Given the description of an element on the screen output the (x, y) to click on. 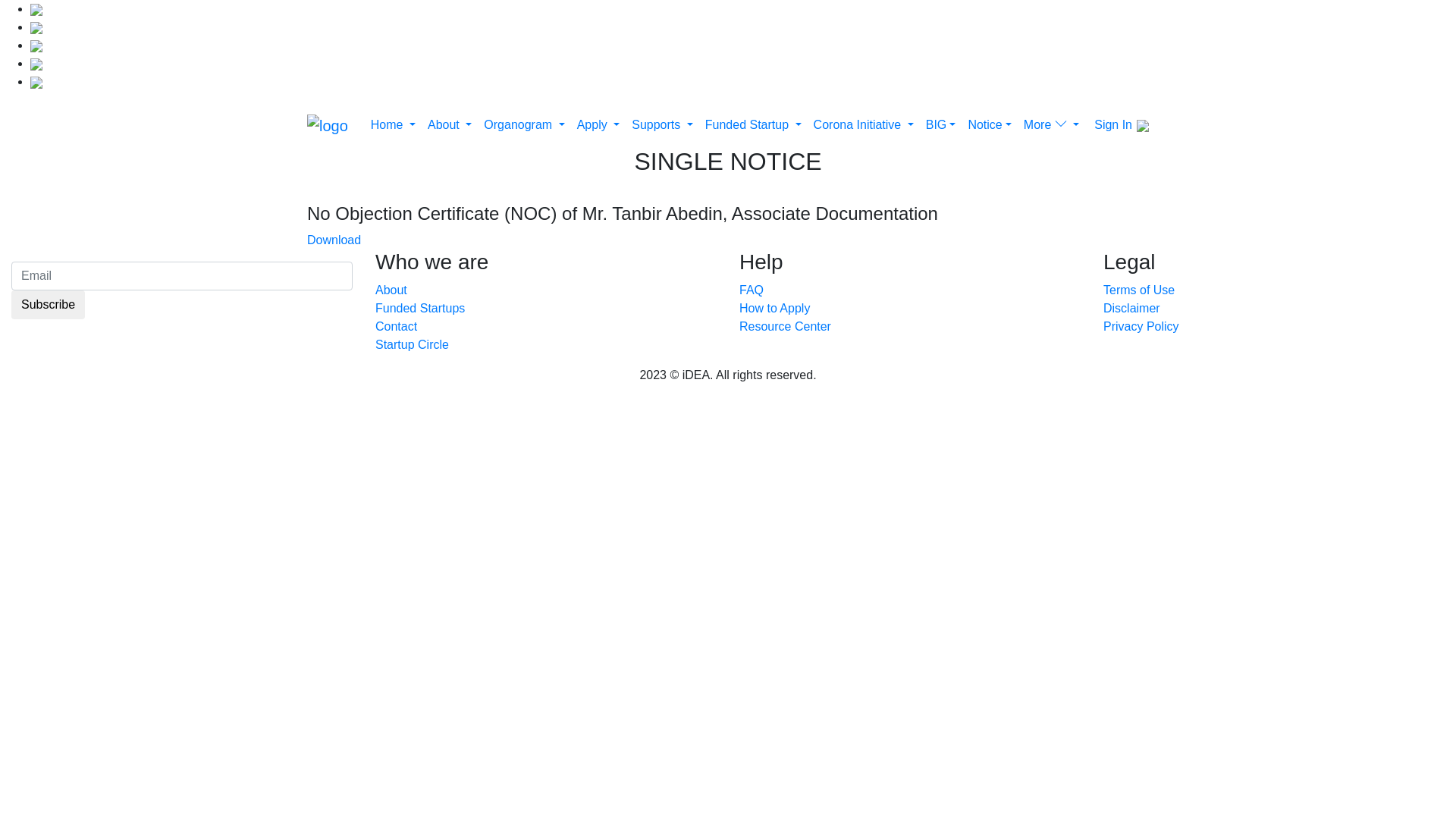
Startup Circle Element type: text (411, 344)
Home Element type: text (392, 124)
About Element type: text (391, 289)
Resource Center Element type: text (785, 326)
FAQ Element type: text (751, 289)
Sign In Element type: text (1113, 124)
Corona Initiative Element type: text (863, 124)
Organogram Element type: text (523, 124)
More Element type: text (1051, 124)
Funded Startup Element type: text (753, 124)
Apply Element type: text (598, 124)
How to Apply Element type: text (774, 307)
BIG Element type: text (940, 124)
Terms of Use Element type: text (1138, 289)
Supports Element type: text (662, 124)
Notice Element type: text (988, 124)
Contact Element type: text (396, 326)
Subscribe Element type: text (47, 304)
About Element type: text (449, 124)
Funded Startups Element type: text (419, 307)
Disclaimer Element type: text (1131, 307)
Download Element type: text (333, 239)
Privacy Policy Element type: text (1141, 326)
